Given the description of an element on the screen output the (x, y) to click on. 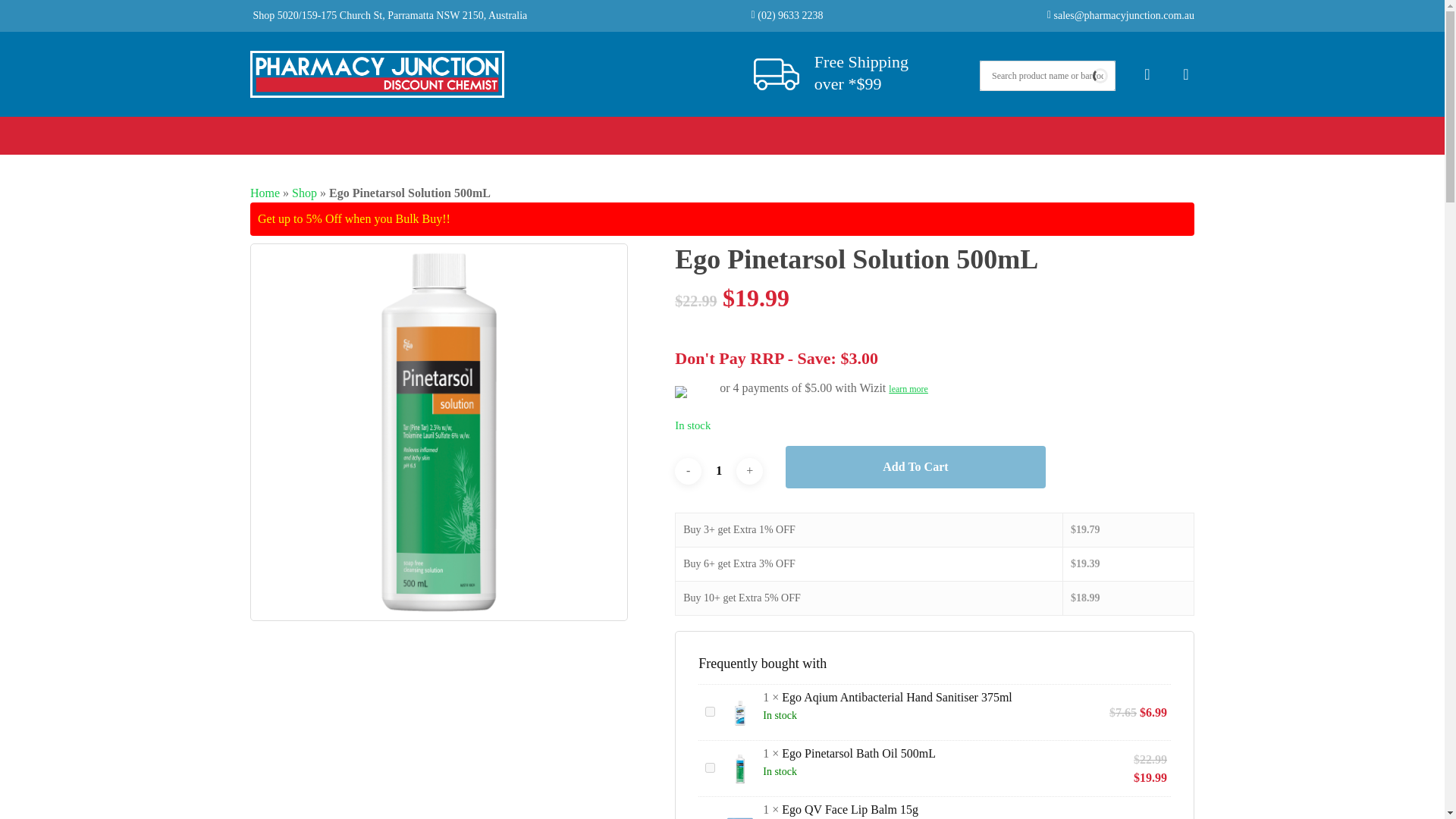
MEDICINES (473, 130)
CLEARANCE (1130, 130)
account (1147, 74)
24170 (709, 711)
SKINCARE (1026, 130)
- (688, 470)
1 (718, 470)
FRAGRANCES (577, 130)
27243 (709, 767)
ALL CATEGORIES (338, 130)
VITAMINS (836, 130)
SPORT SUPPLEMENTS (712, 130)
FOOT CARE (930, 130)
